Given the description of an element on the screen output the (x, y) to click on. 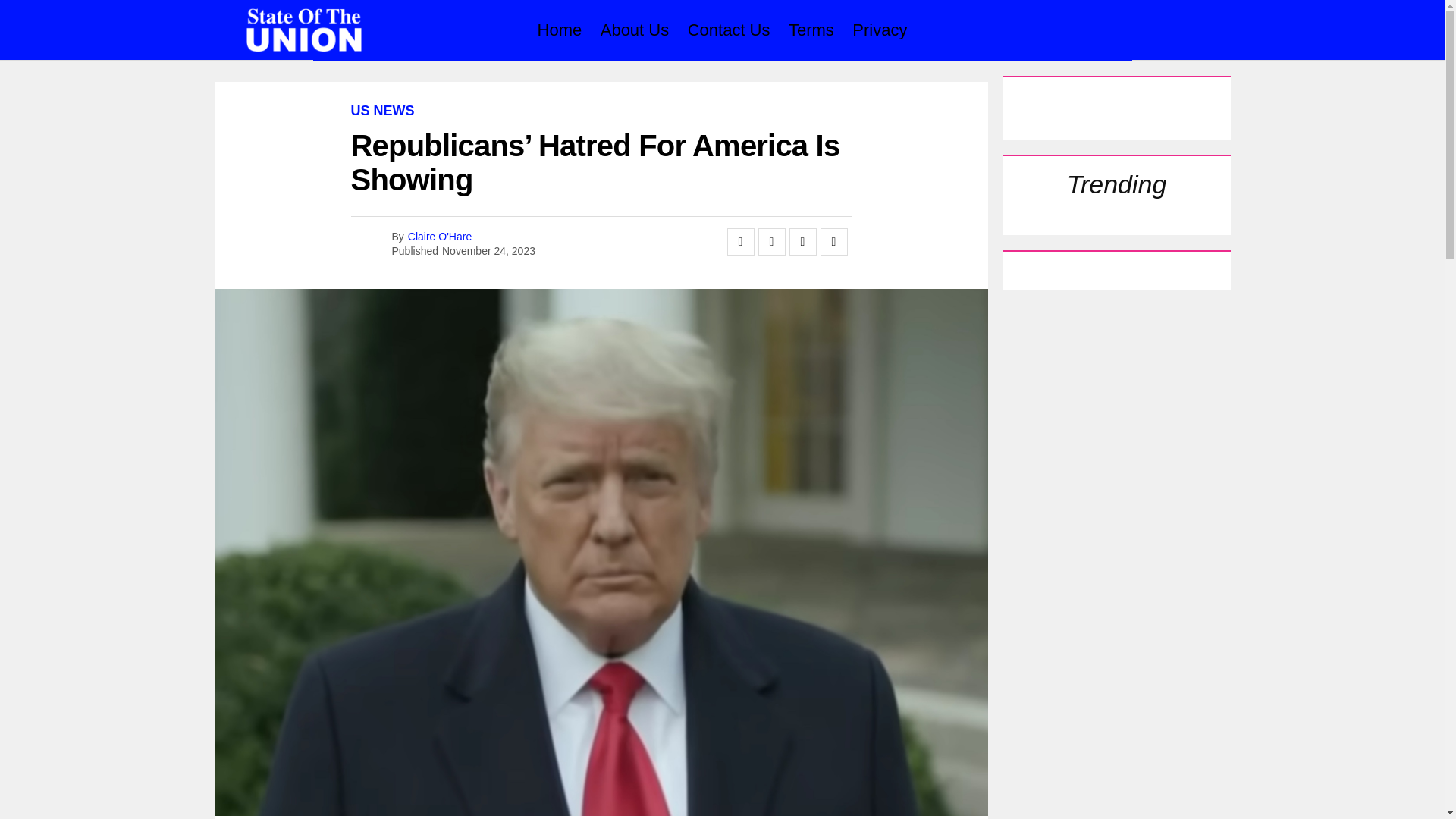
Share on Facebook (740, 241)
About Us (634, 30)
Tweet This Post (772, 241)
Claire O'Hare (439, 236)
Terms (810, 30)
Posts by Claire O'Hare (439, 236)
Contact Us (728, 30)
Privacy (879, 30)
US NEWS (381, 110)
Home (559, 30)
